Given the description of an element on the screen output the (x, y) to click on. 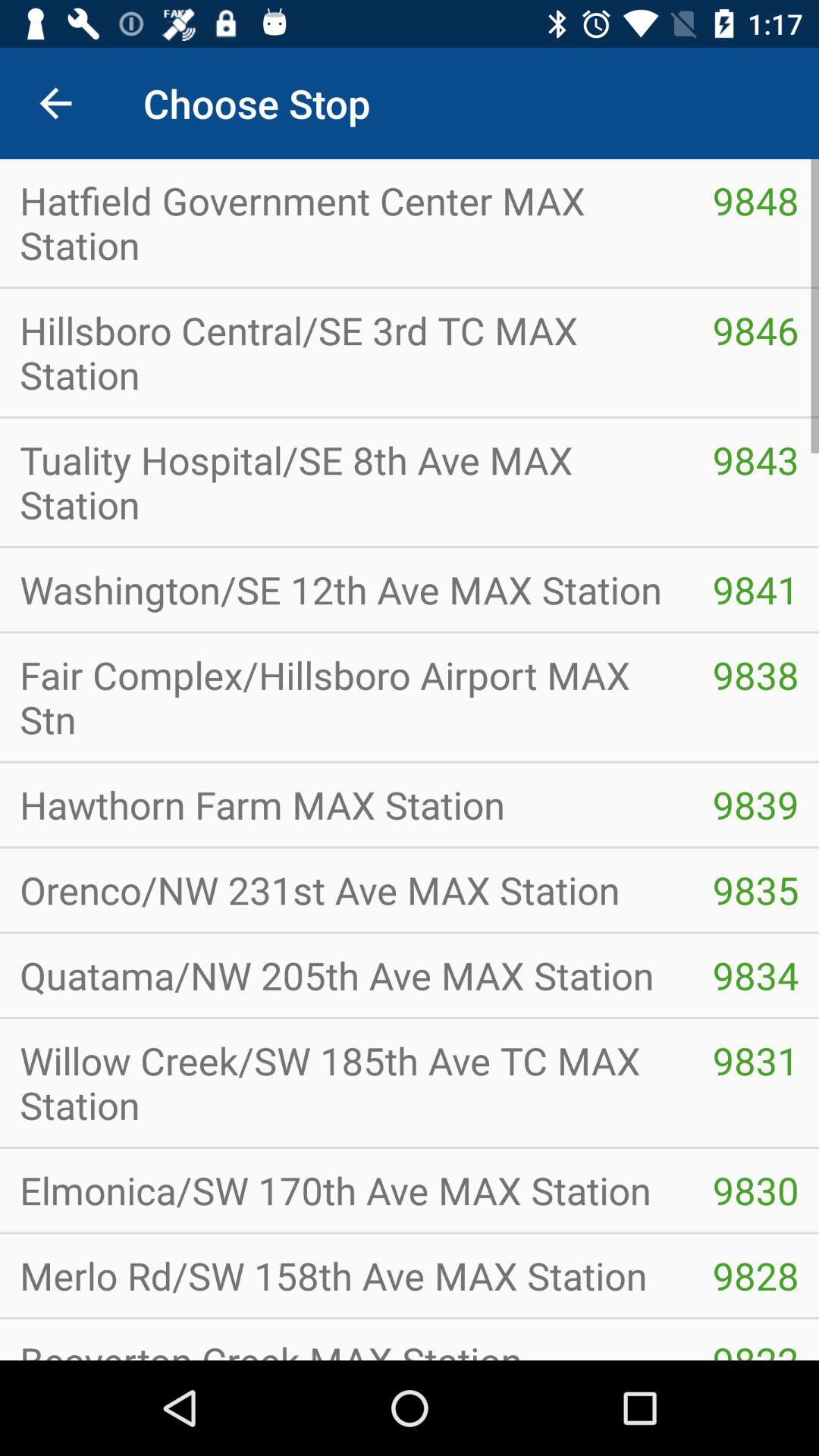
turn off icon to the right of orenco nw 231st icon (755, 974)
